Given the description of an element on the screen output the (x, y) to click on. 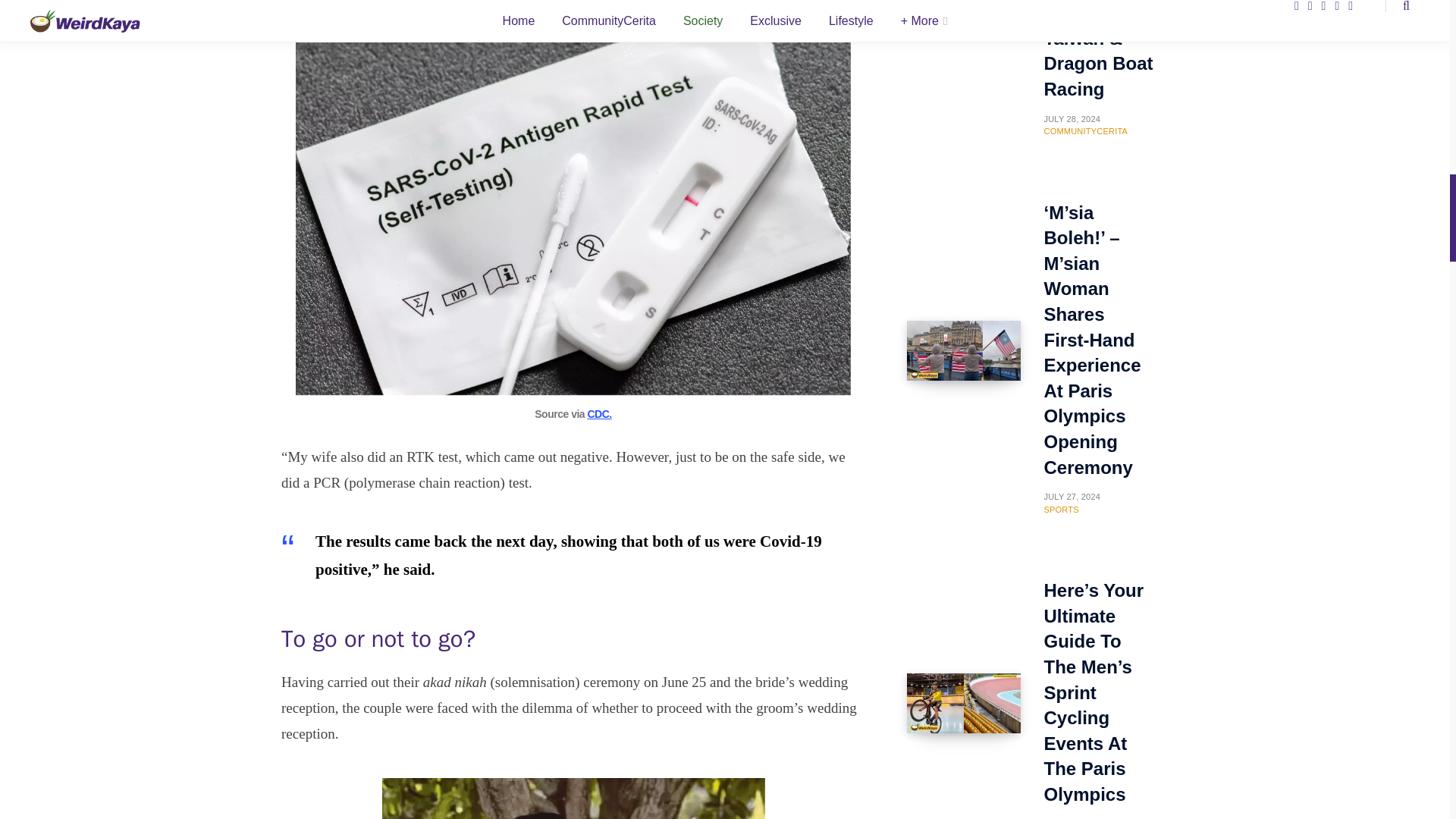
CDC. (598, 413)
